Given the description of an element on the screen output the (x, y) to click on. 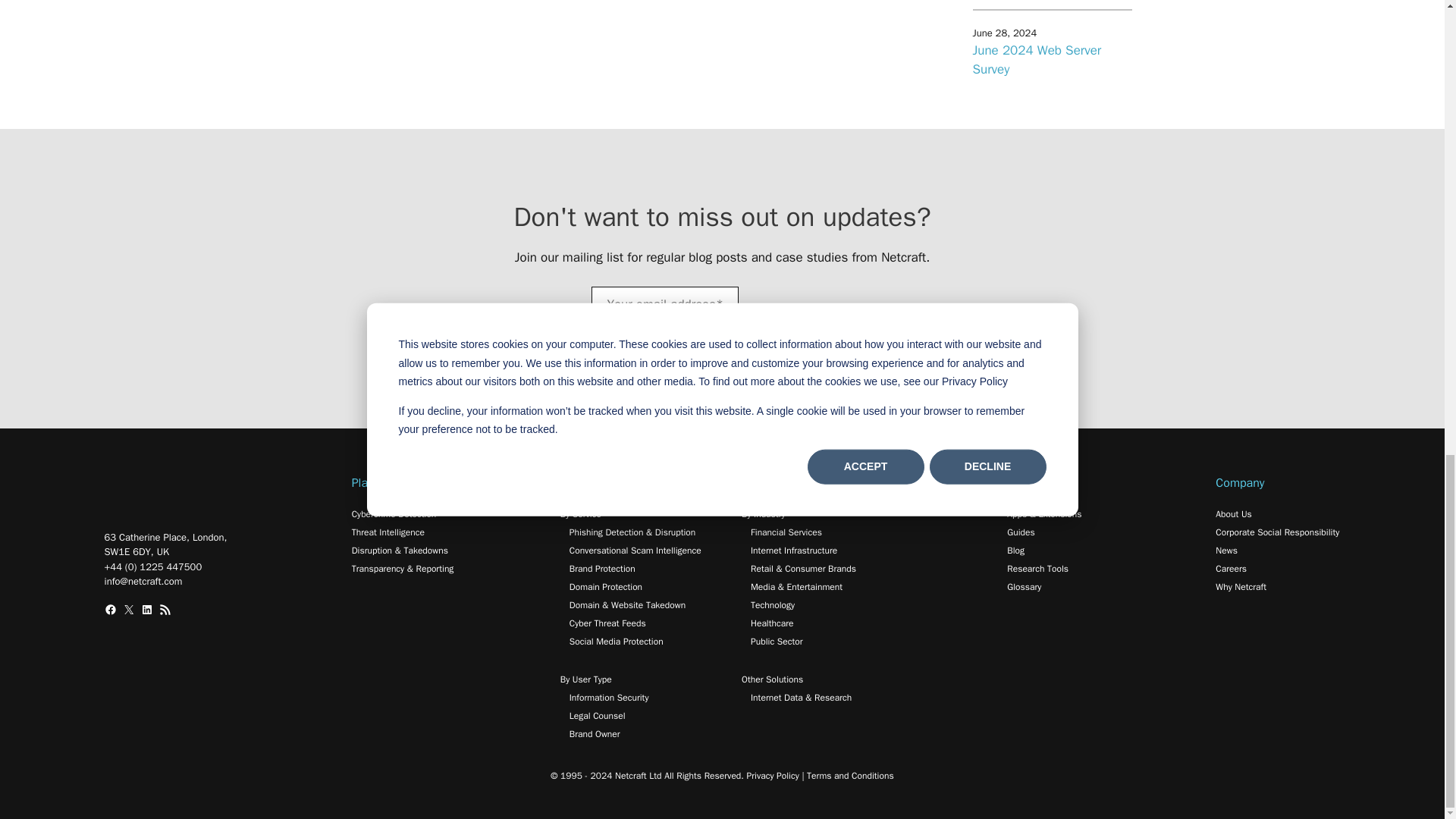
SUBSCRIBE (794, 335)
